Given the description of an element on the screen output the (x, y) to click on. 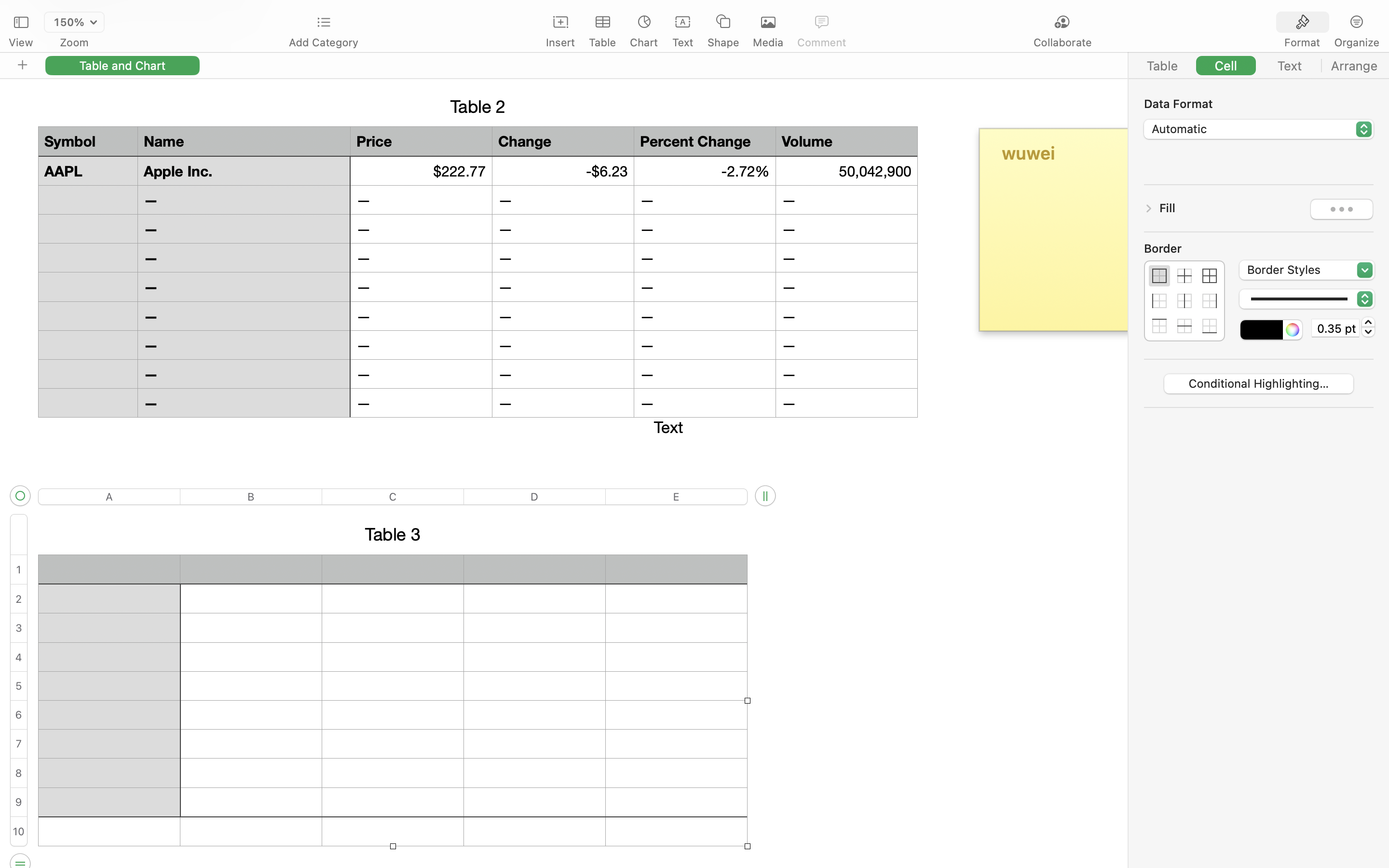
View Element type: AXStaticText (20, 42)
0.35 pt Element type: AXTextField (1335, 327)
